Given the description of an element on the screen output the (x, y) to click on. 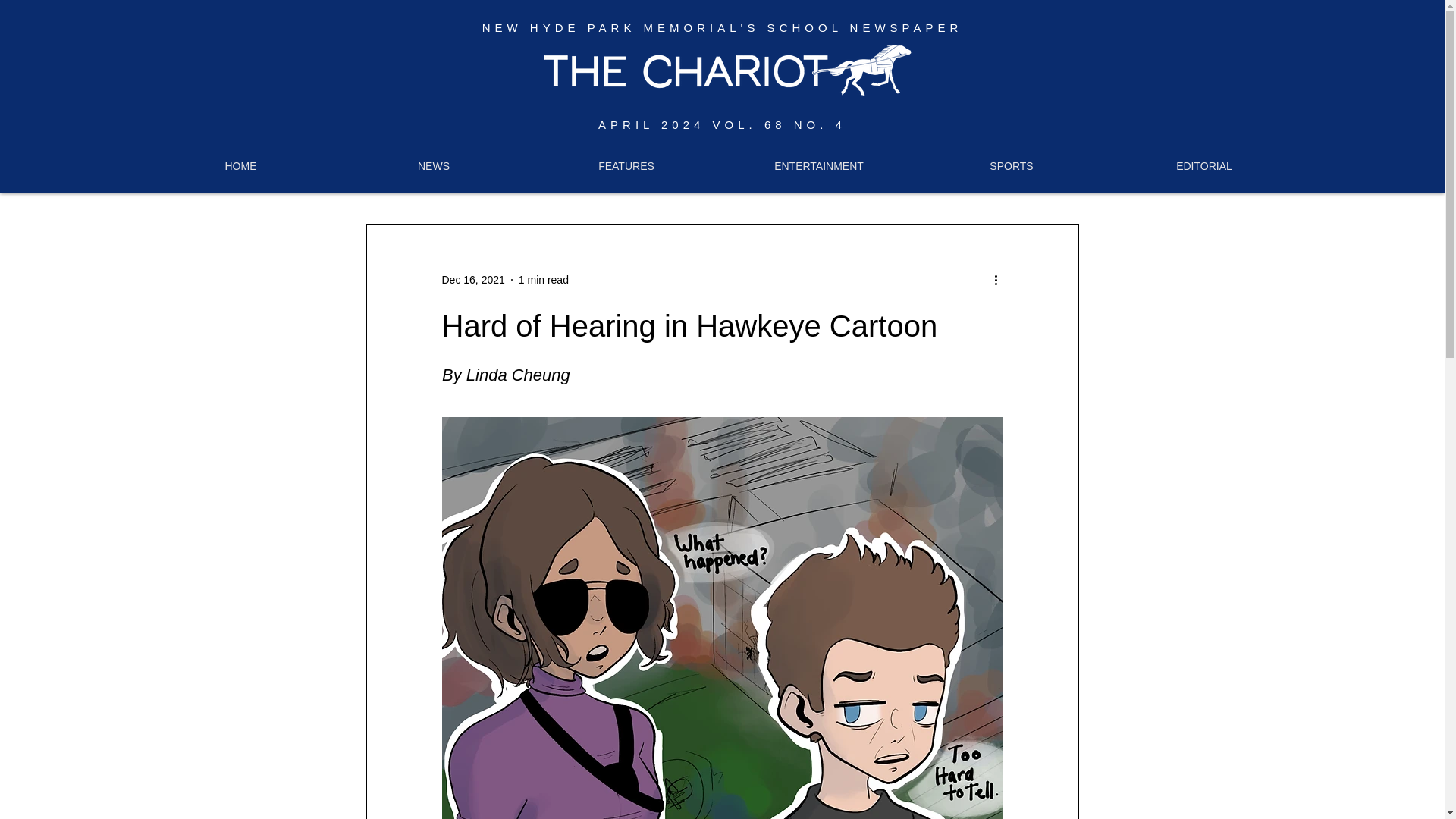
NEWS (433, 165)
FEATURES (625, 165)
HOME (240, 165)
1 min read (543, 278)
APRIL 2024 VOL. 68 NO. 4 (721, 124)
NEW HYDE PARK MEMORIAL'S SCHOOL NEWSPAPER (721, 27)
EDITORIAL (1204, 165)
Dec 16, 2021 (472, 278)
SPORTS (1011, 165)
ENTERTAINMENT (818, 165)
